Given the description of an element on the screen output the (x, y) to click on. 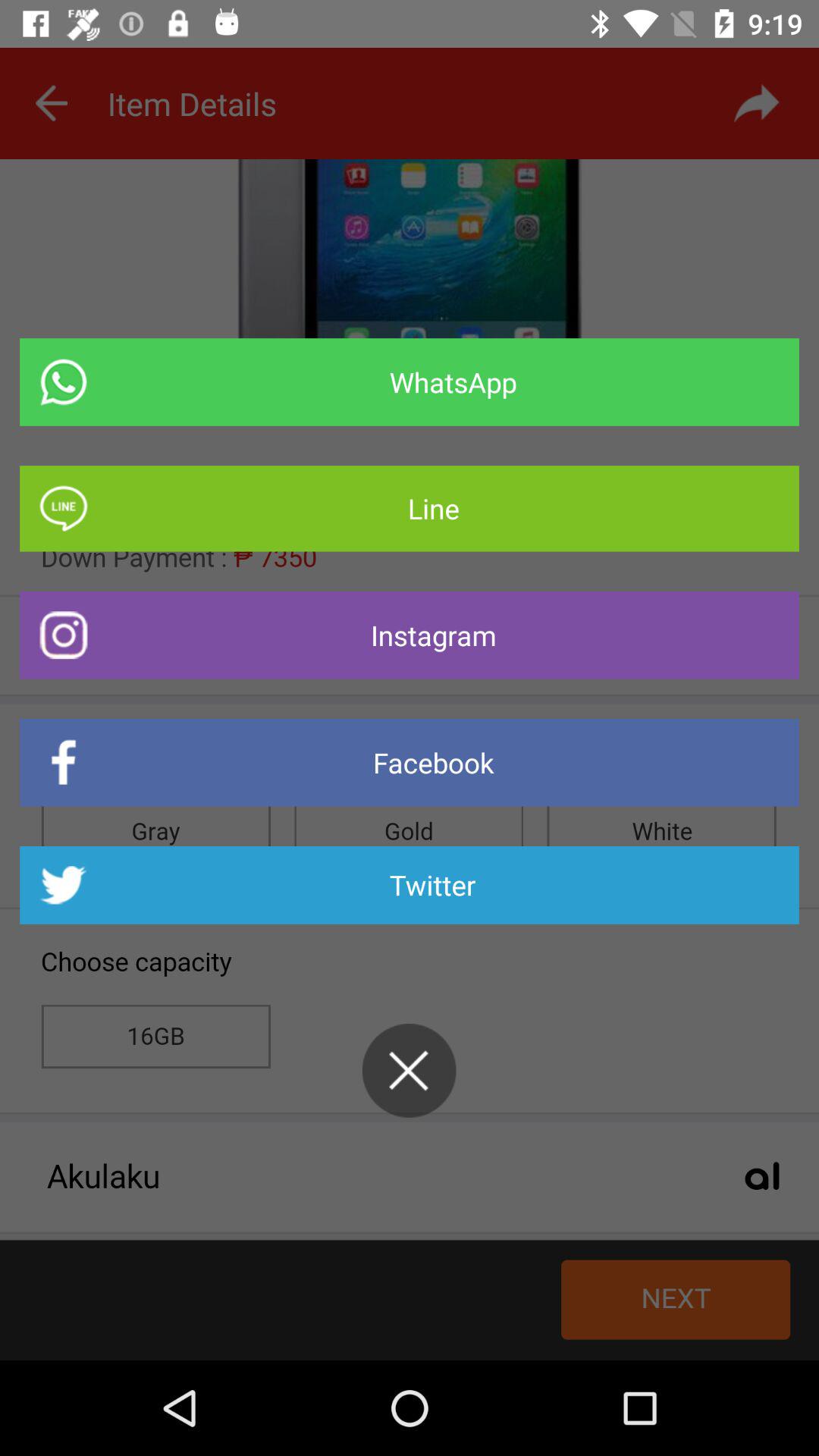
flip until line icon (409, 508)
